Given the description of an element on the screen output the (x, y) to click on. 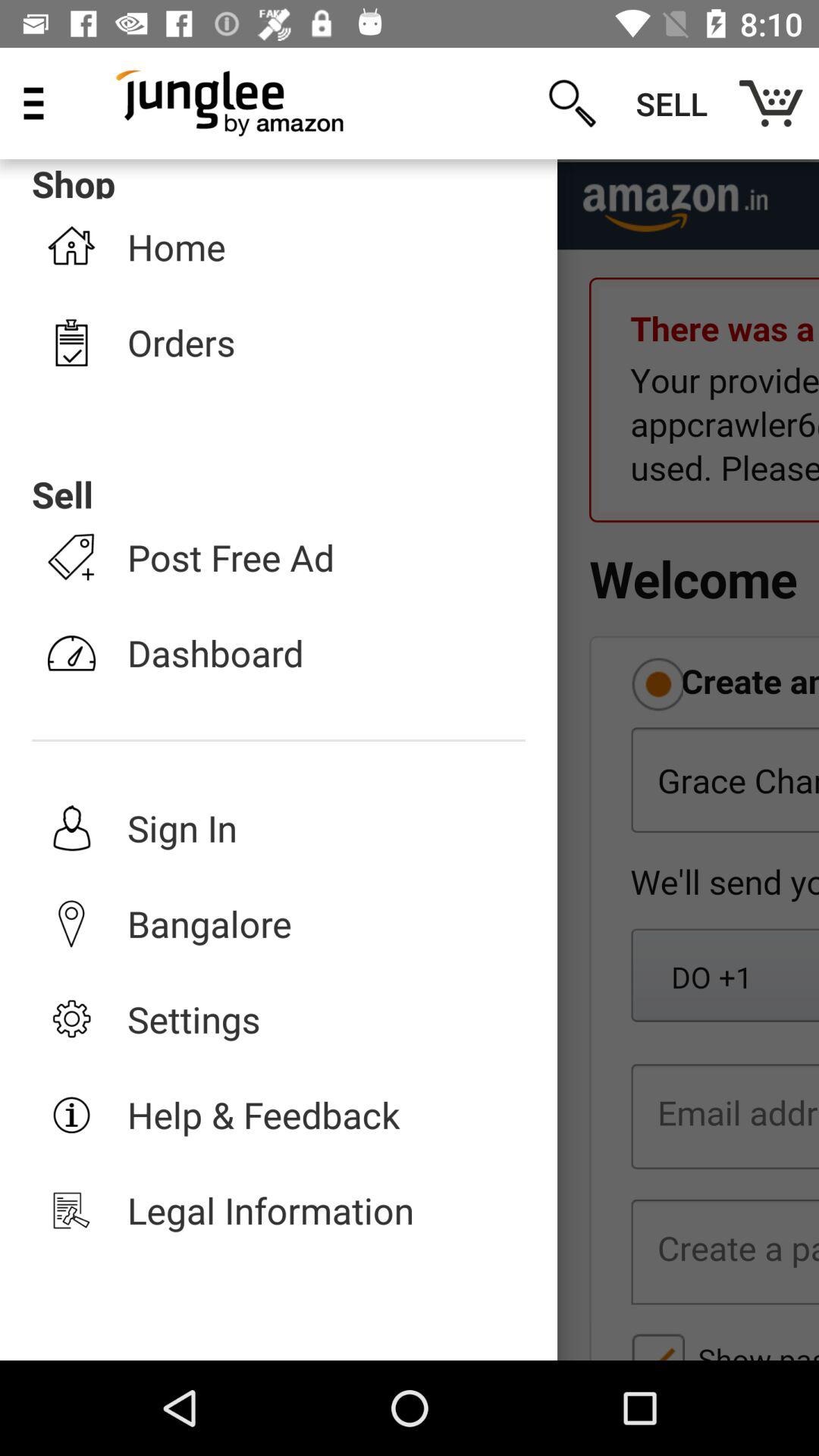
open icon next to sell icon (771, 103)
